Given the description of an element on the screen output the (x, y) to click on. 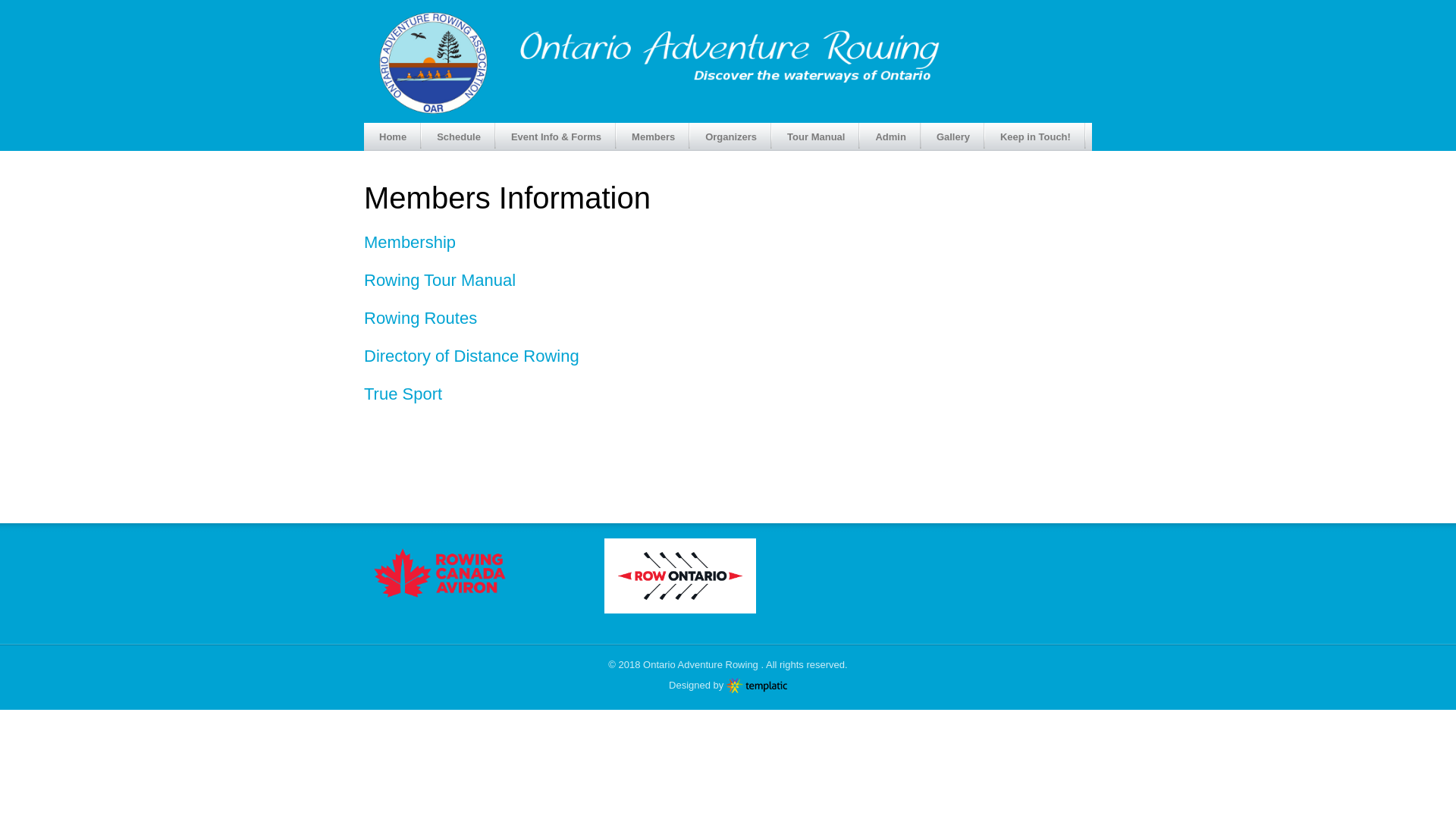
Schedule Element type: text (458, 136)
Admin Element type: text (889, 136)
Gallery Element type: text (953, 136)
Directory of Distance Rowing Element type: text (471, 355)
Organizers Element type: text (730, 136)
Wordpress themes Element type: text (756, 685)
Event Info & Forms Element type: text (555, 136)
Ontario Adventure Rowing Element type: text (701, 664)
Tour Manual Element type: text (815, 136)
Members Element type: text (653, 136)
Home Element type: text (392, 136)
Keep in Touch! Element type: text (1035, 136)
Rowing Tour Manual Element type: text (439, 279)
True Sport Element type: text (403, 393)
Rowing Routes Element type: text (420, 317)
Membership Element type: text (409, 241)
